Given the description of an element on the screen output the (x, y) to click on. 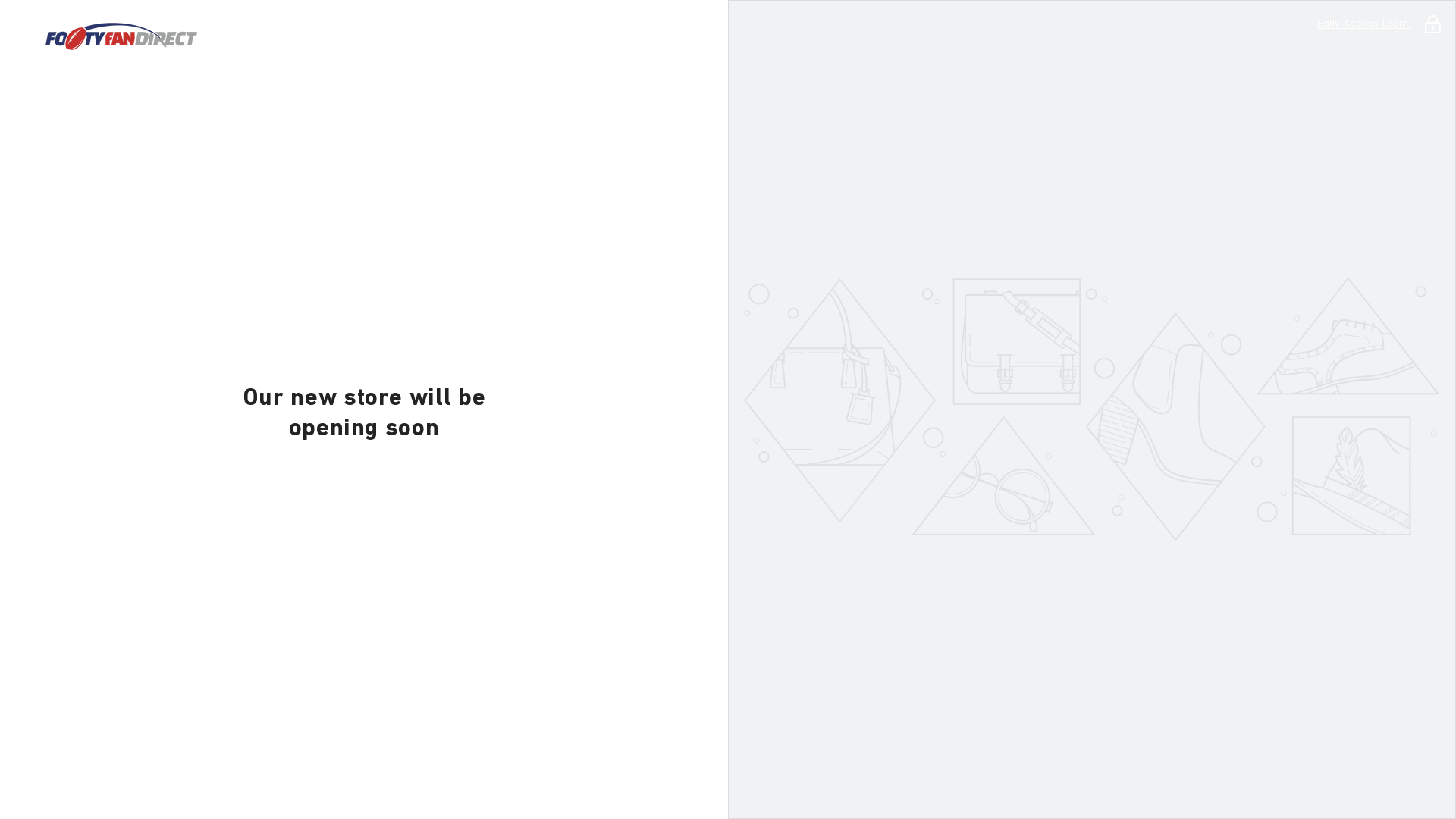
Logo Element type: hover (363, 36)
